Given the description of an element on the screen output the (x, y) to click on. 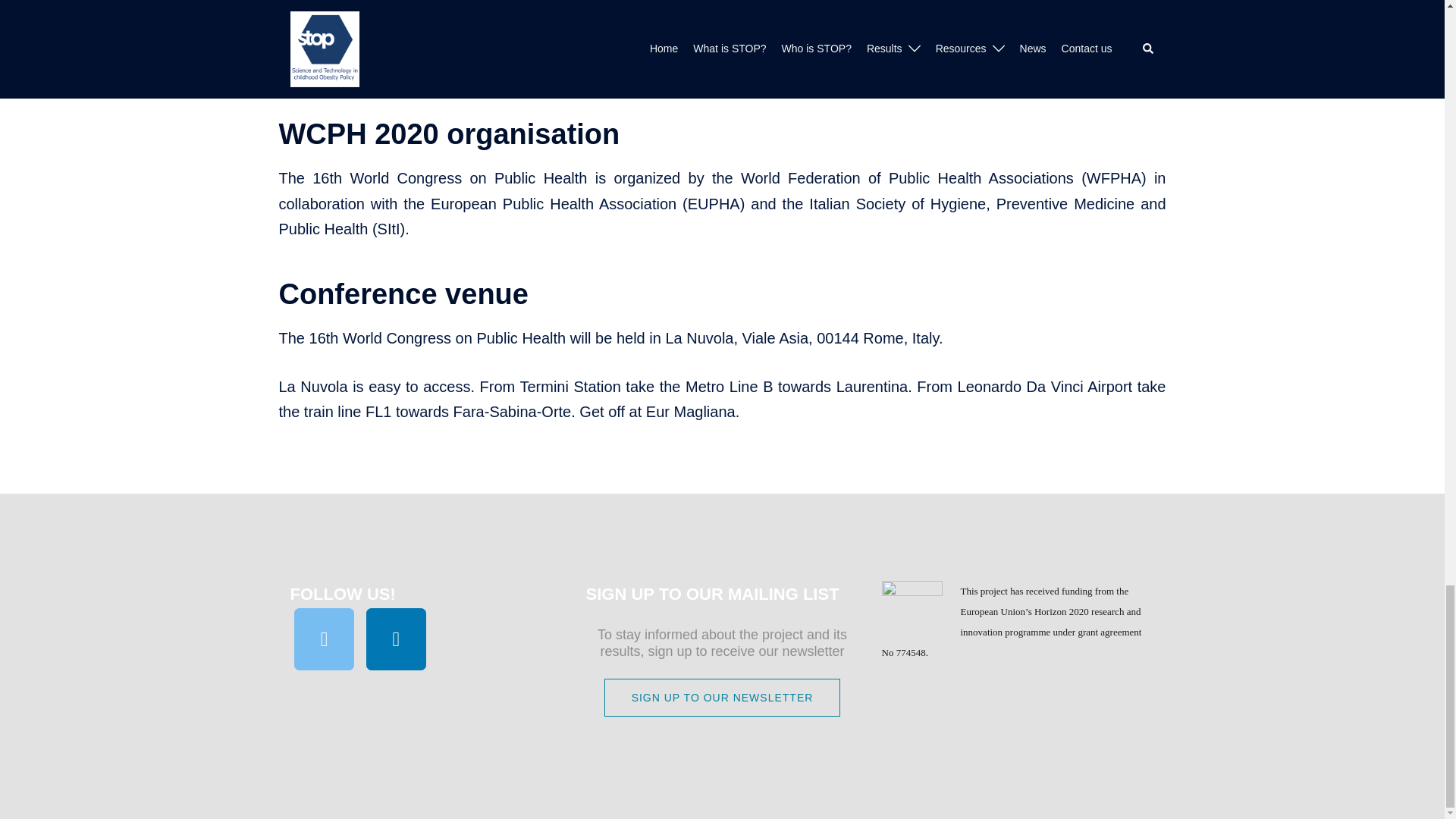
Follow us on Twitter! (324, 639)
STOP on Linkedin (396, 639)
